Given the description of an element on the screen output the (x, y) to click on. 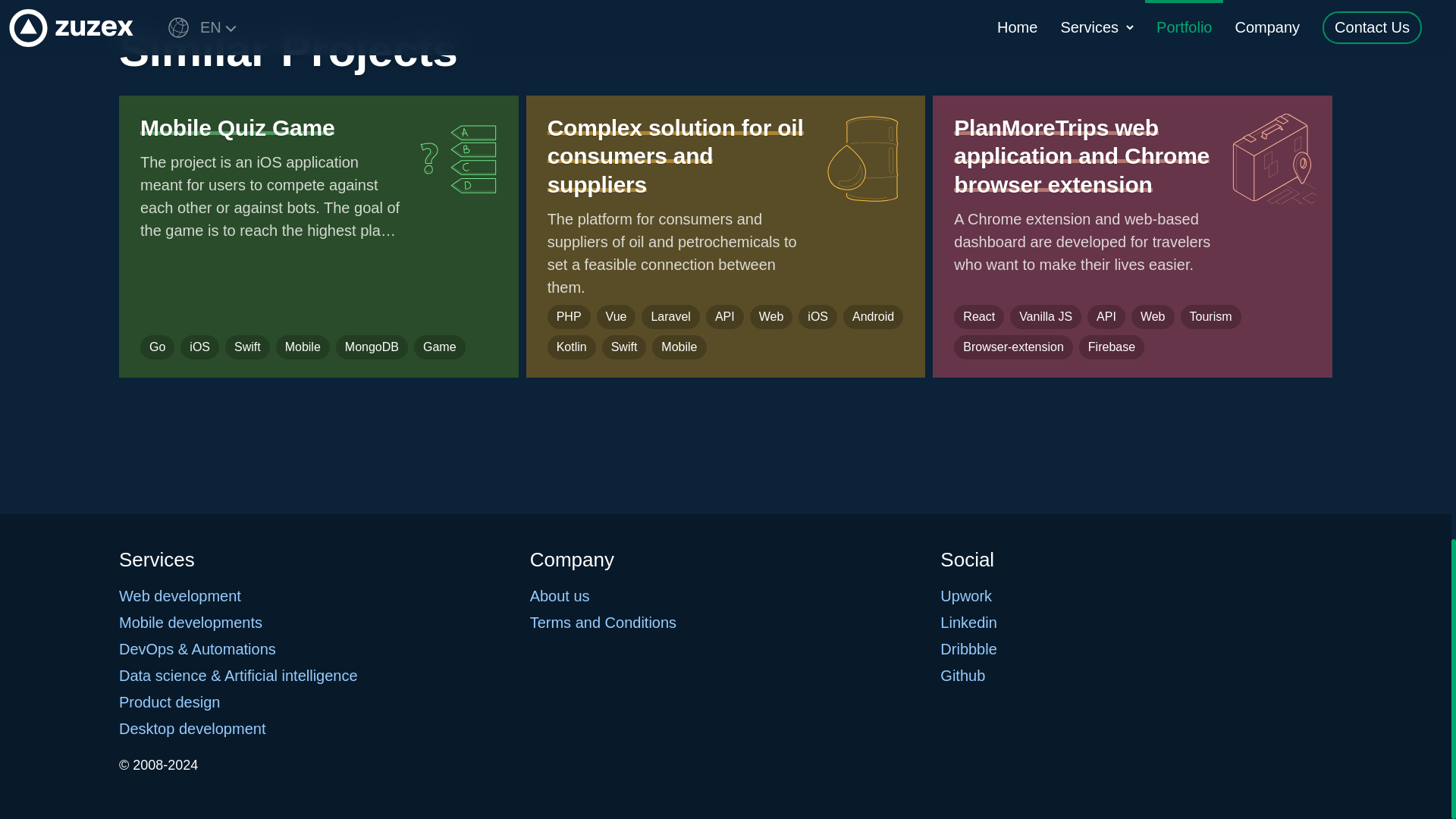
Web development (180, 596)
Product design (169, 701)
Mobile developments (190, 622)
